Given the description of an element on the screen output the (x, y) to click on. 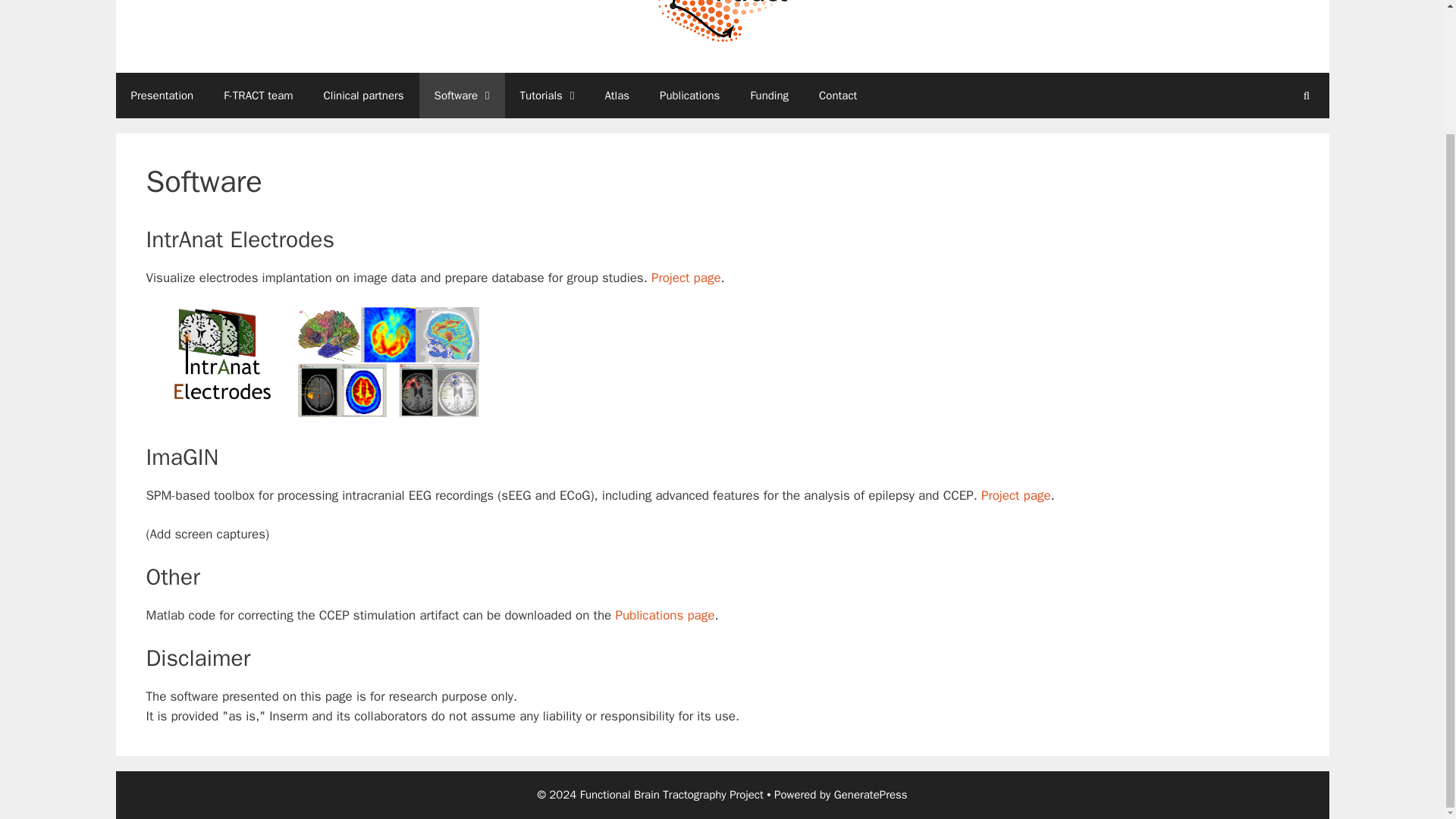
Publications (690, 94)
Contact (837, 94)
Project page (685, 277)
Atlas (617, 94)
Project page (1016, 495)
Functional Brain Tractography Project (722, 20)
Clinical partners (363, 94)
F-TRACT team (257, 94)
GeneratePress (870, 794)
Presentation (161, 94)
Tutorials (547, 94)
Software (462, 94)
Funding (769, 94)
Search (1305, 94)
Search (1305, 94)
